Given the description of an element on the screen output the (x, y) to click on. 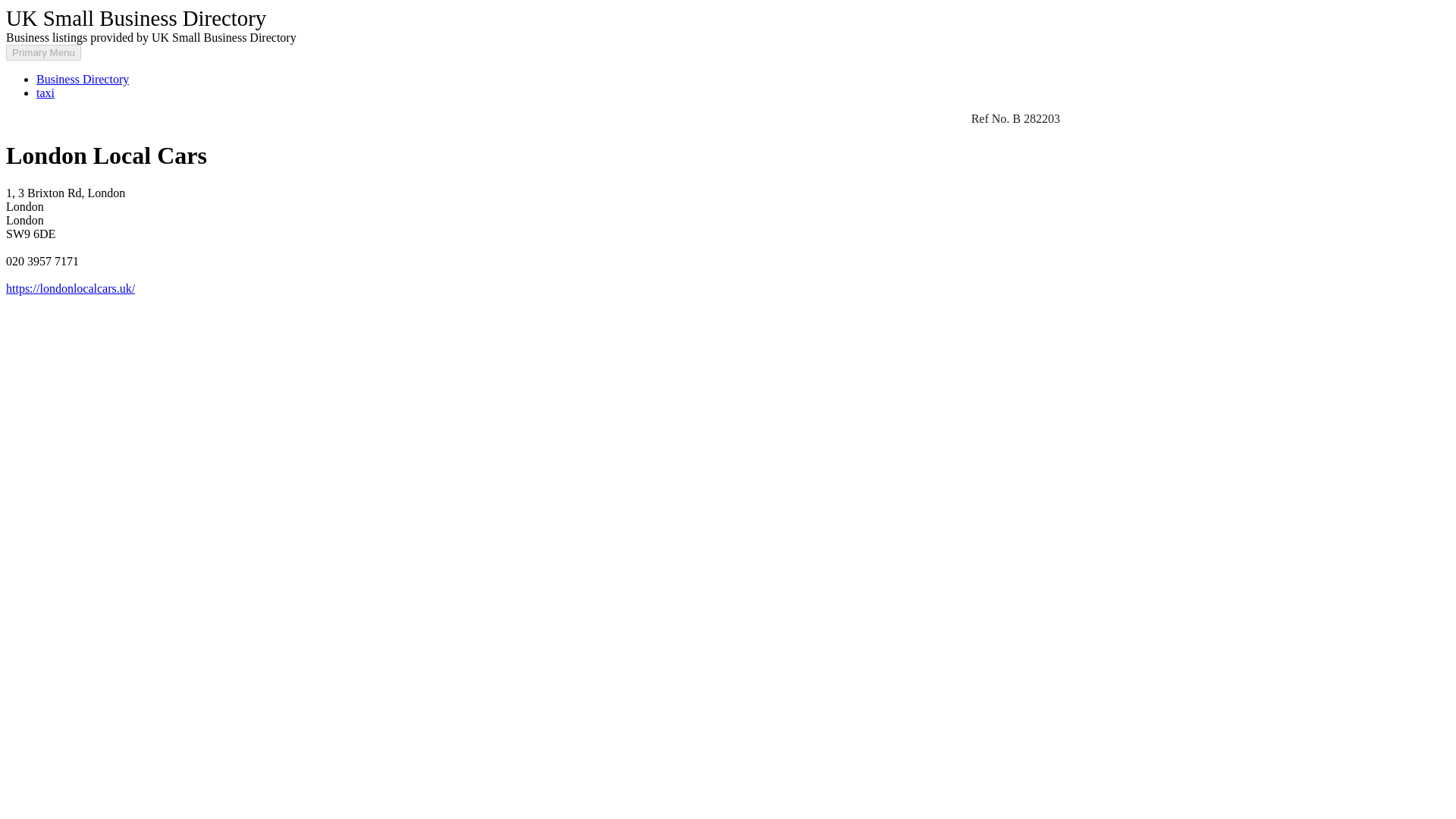
Business Directory (82, 78)
taxi (45, 92)
Primary Menu (43, 52)
